Given the description of an element on the screen output the (x, y) to click on. 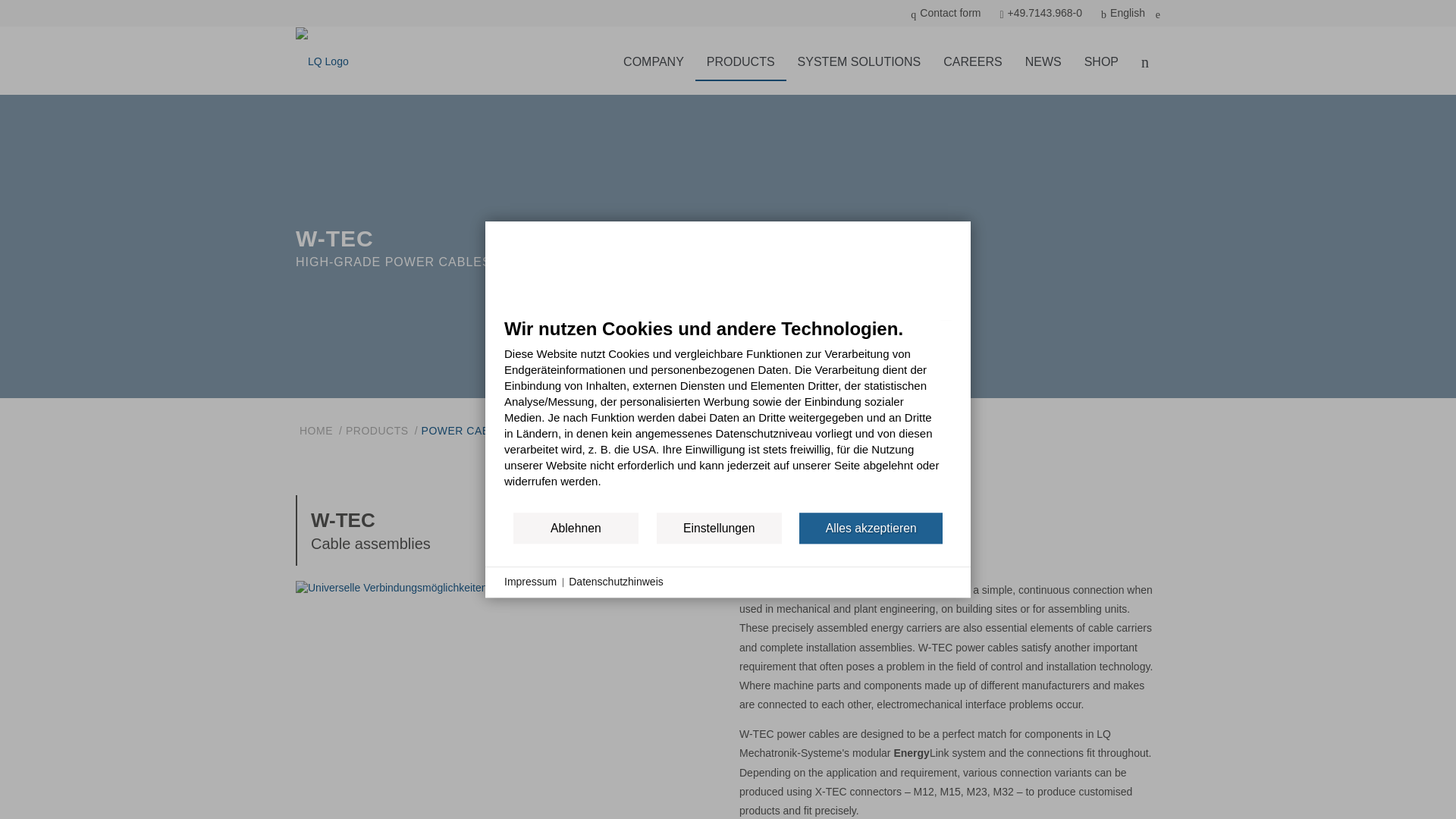
COMPANY (653, 61)
PRODUCTS (740, 61)
W-TEC (458, 689)
CAREERS (972, 61)
SYSTEM SOLUTIONS (859, 61)
Contact form (945, 13)
